Given the description of an element on the screen output the (x, y) to click on. 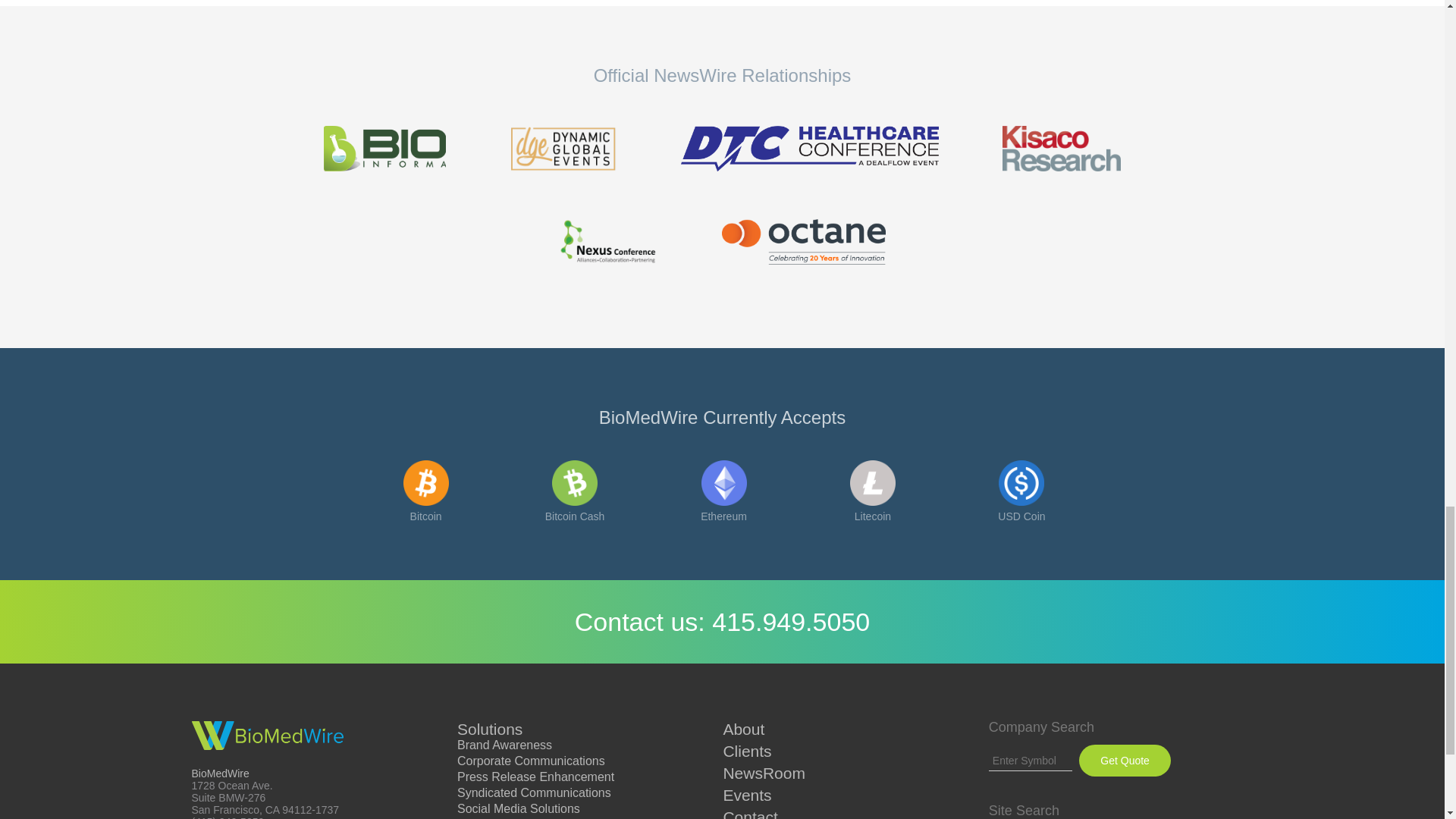
BioMedWire (266, 735)
